Given the description of an element on the screen output the (x, y) to click on. 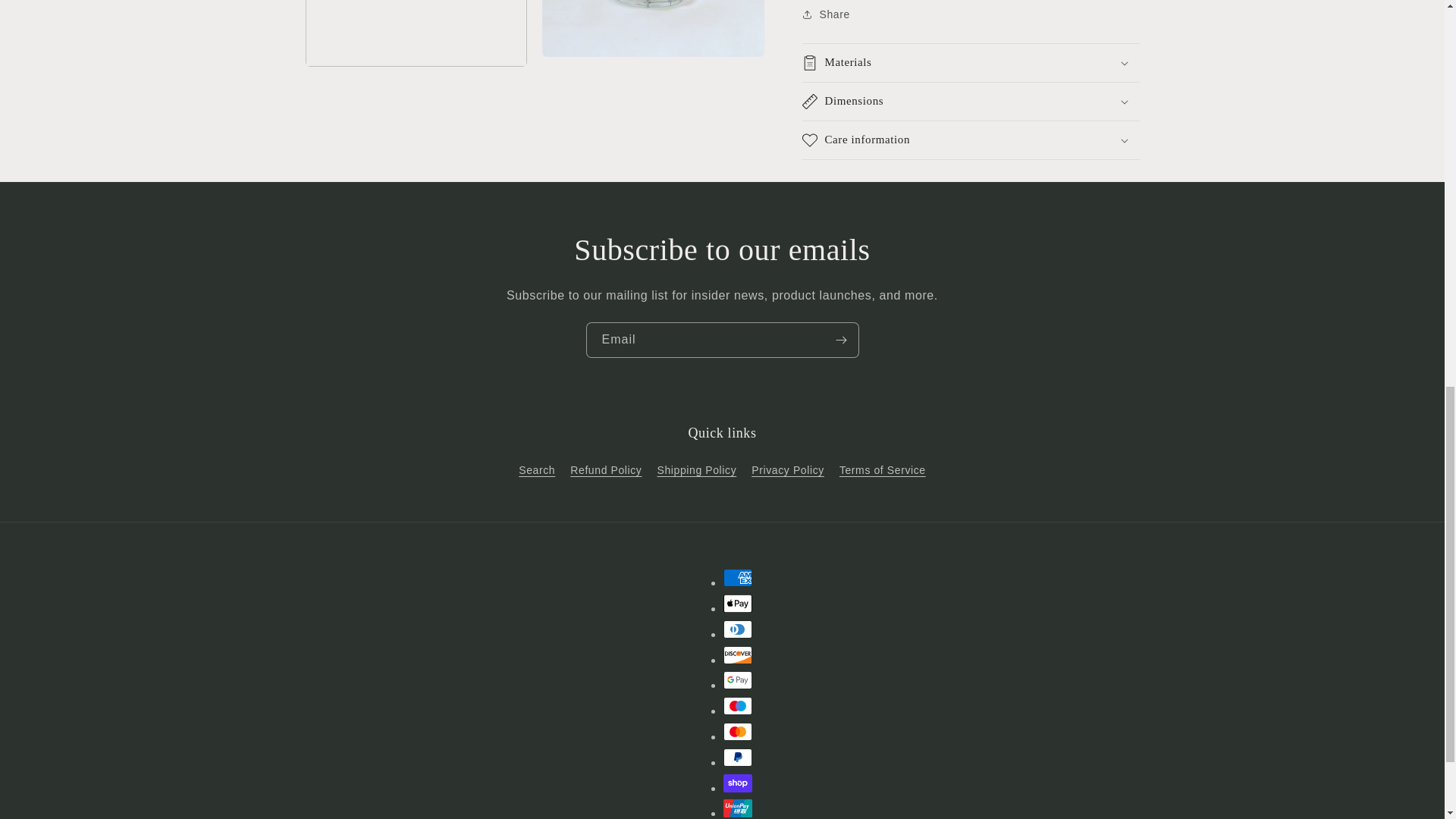
Diners Club (737, 628)
Refund Policy (606, 470)
Maestro (737, 705)
Google Pay (737, 679)
Search (536, 472)
American Express (737, 577)
Mastercard (737, 731)
Discover (737, 655)
PayPal (737, 757)
Apple Pay (737, 603)
